Given the description of an element on the screen output the (x, y) to click on. 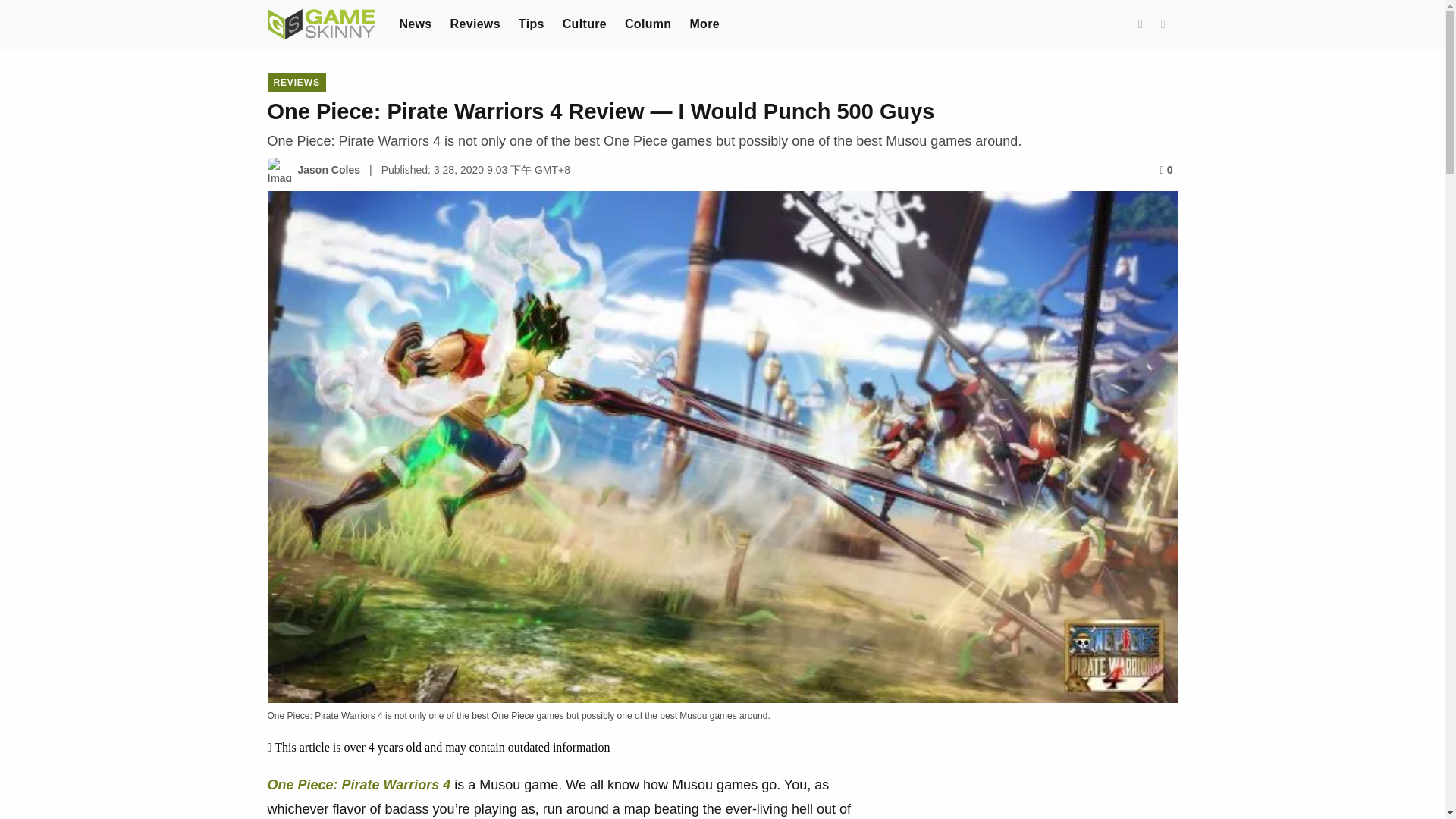
Column (647, 23)
Reviews (474, 23)
Tips (531, 23)
Culture (584, 23)
News (414, 23)
